Given the description of an element on the screen output the (x, y) to click on. 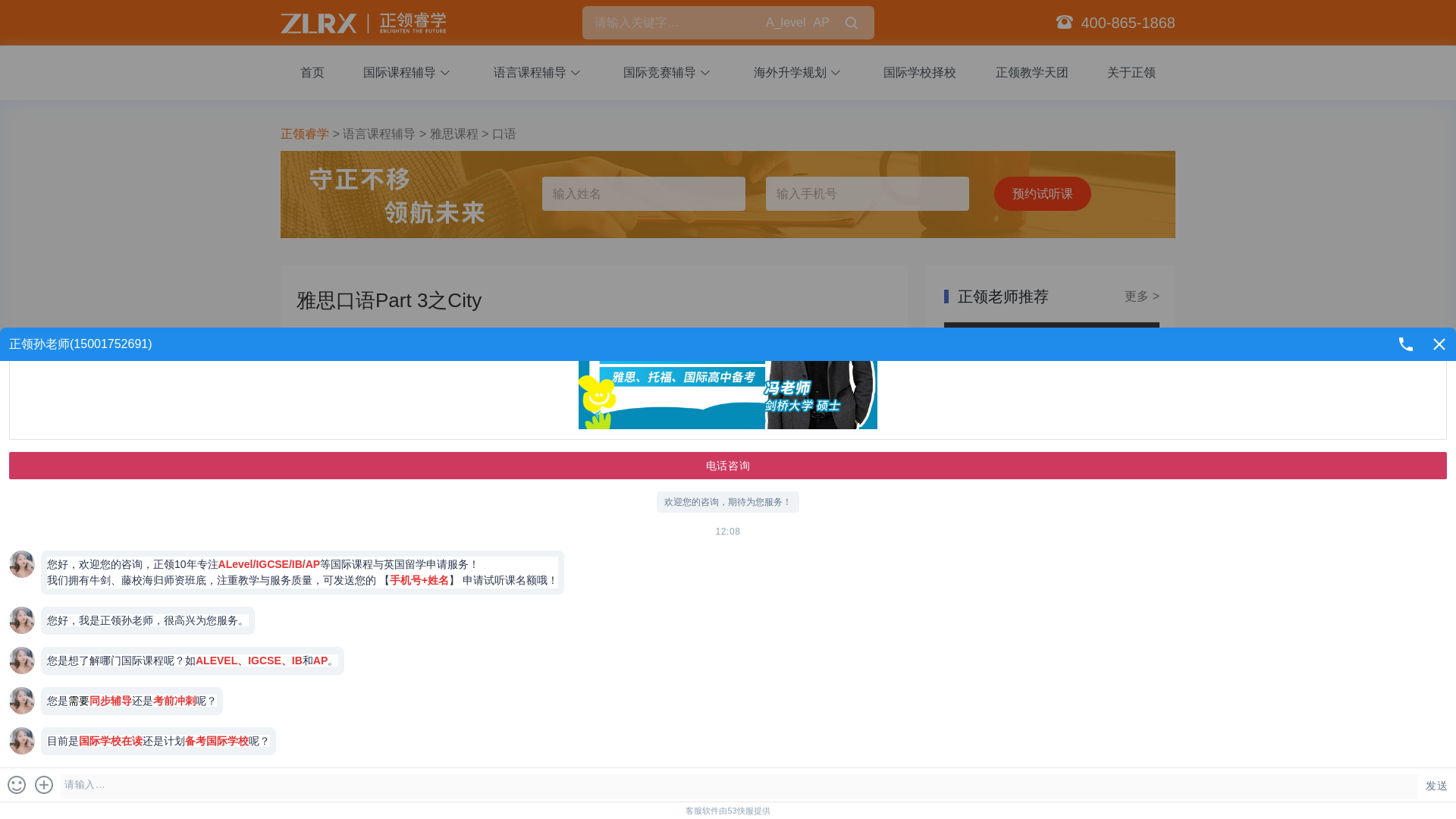
400-865-1868 (1127, 23)
AP (820, 22)
